Given the description of an element on the screen output the (x, y) to click on. 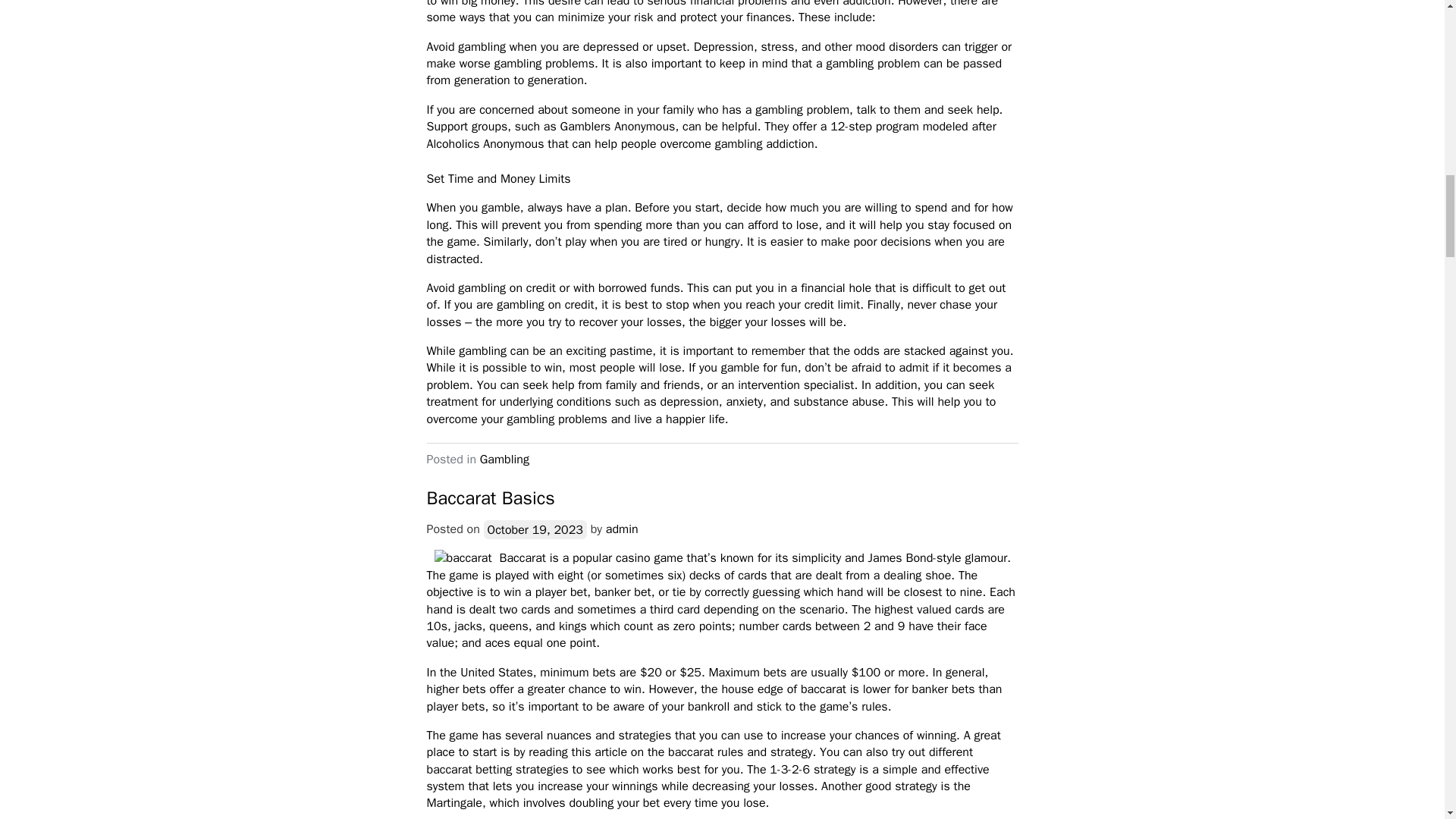
Baccarat Basics (490, 497)
October 19, 2023 (534, 529)
Gambling (504, 459)
